Given the description of an element on the screen output the (x, y) to click on. 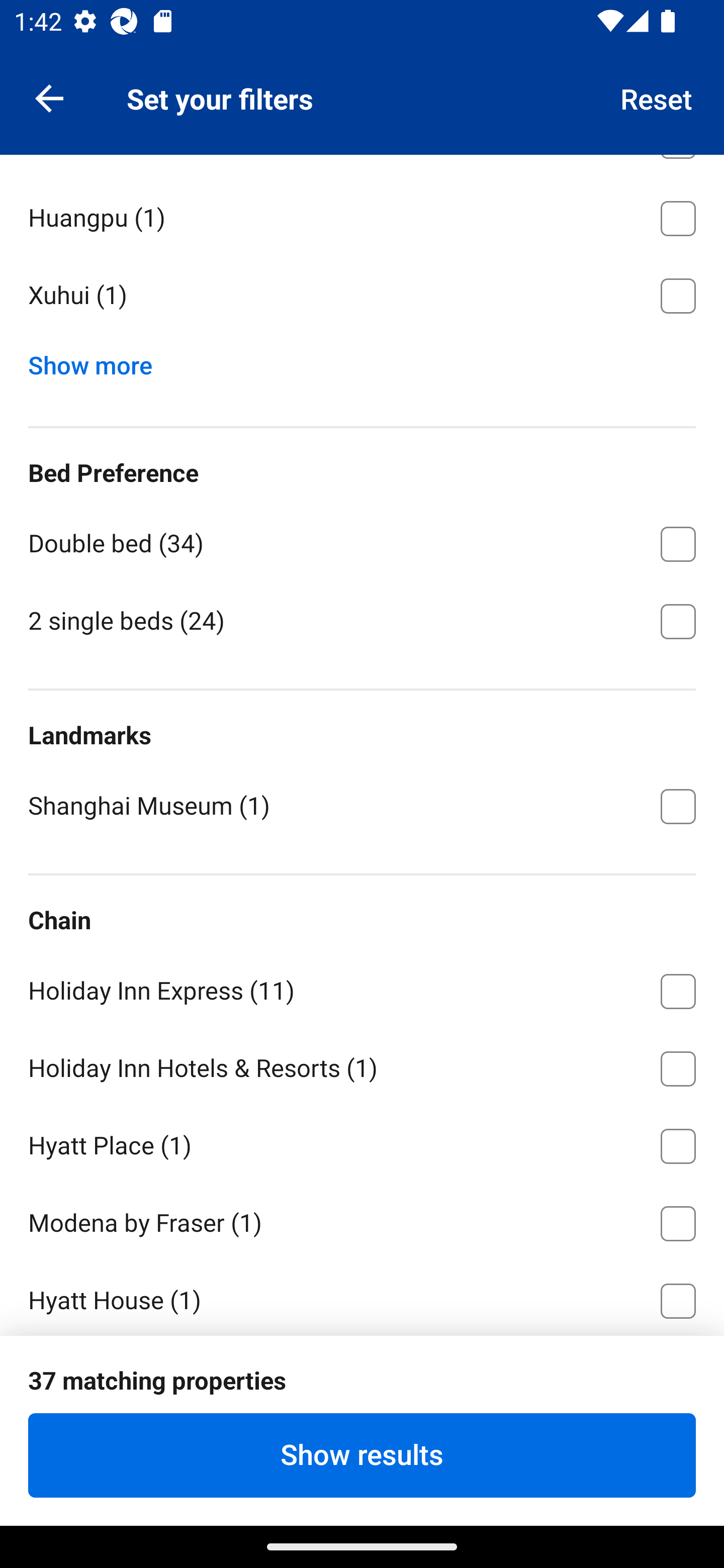
Navigate up (49, 97)
Reset (656, 97)
Huangpu ⁦(1) (361, 214)
Xuhui ⁦(1) (361, 296)
Show more (97, 361)
Double bed ⁦(34) (361, 540)
2 single beds ⁦(24) (361, 620)
Shanghai Museum ⁦(1) (361, 805)
Holiday Inn Express ⁦(11) (361, 987)
Holiday Inn Hotels & Resorts ⁦(1) (361, 1065)
Hyatt Place ⁦(1) (361, 1142)
Modena by Fraser ⁦(1) (361, 1220)
Hyatt House ⁦(1) (361, 1297)
Show results (361, 1454)
